Given the description of an element on the screen output the (x, y) to click on. 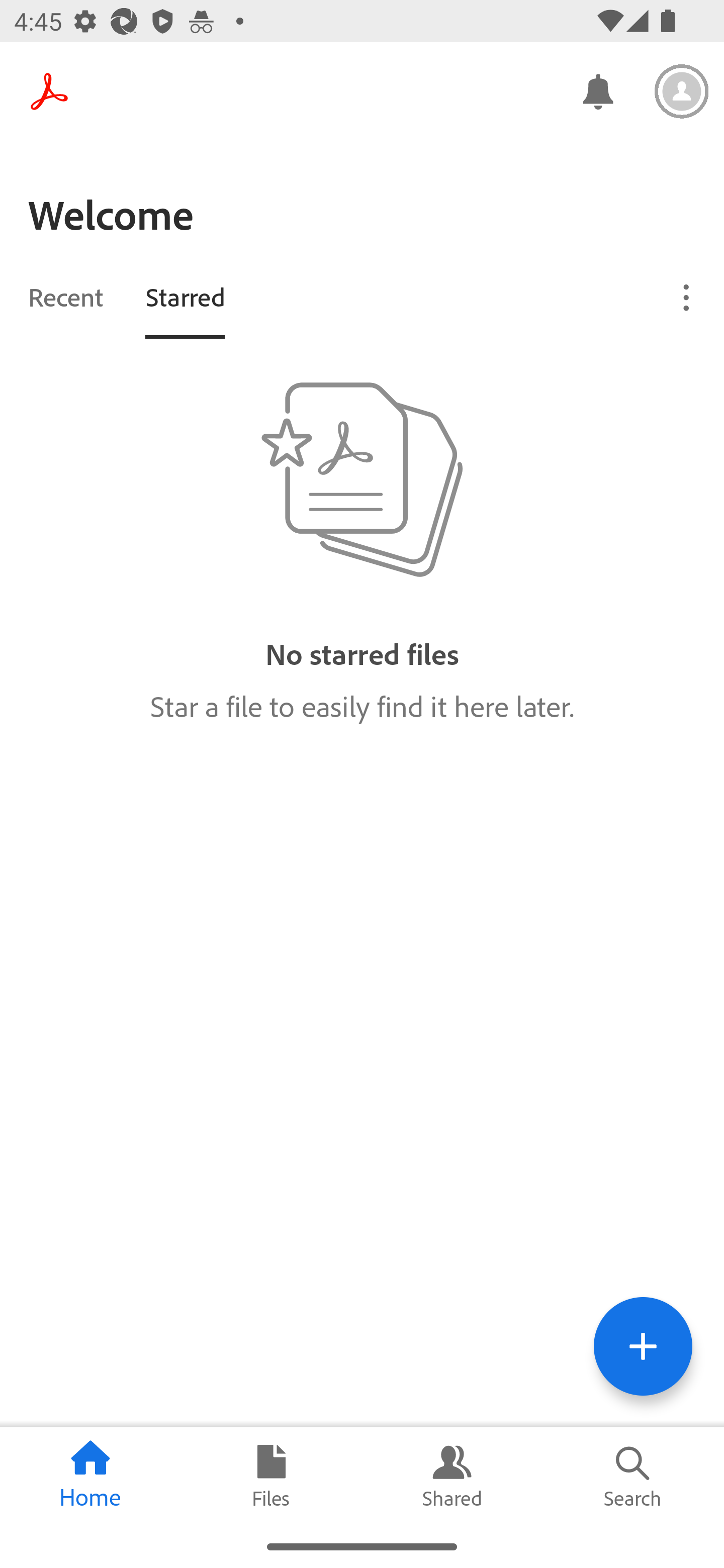
Notifications (597, 90)
Settings (681, 91)
Recent (65, 296)
Starred (185, 296)
Overflow (687, 296)
Tools (642, 1345)
Home (90, 1475)
Files (271, 1475)
Shared (452, 1475)
Search (633, 1475)
